Given the description of an element on the screen output the (x, y) to click on. 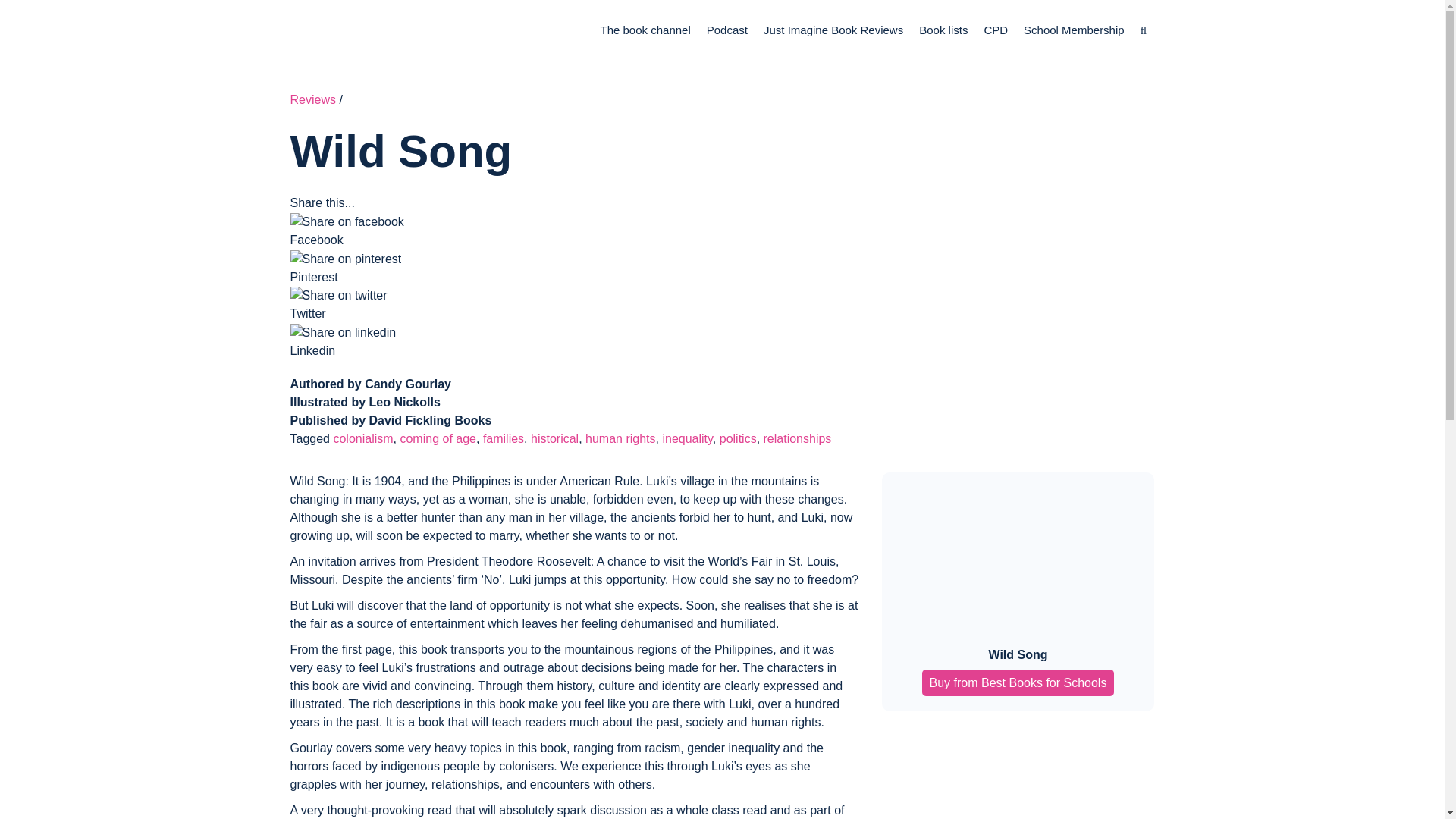
pinterest (345, 259)
linkedin (342, 332)
Just Imagine Book Reviews (833, 29)
Podcast (726, 29)
Reviews (311, 99)
Twitter (574, 314)
families (503, 438)
human rights (620, 438)
School Membership (1074, 29)
politics (738, 438)
Facebook (574, 239)
twitter (338, 295)
inequality (686, 438)
colonialism (363, 438)
Twitter (574, 313)
